Given the description of an element on the screen output the (x, y) to click on. 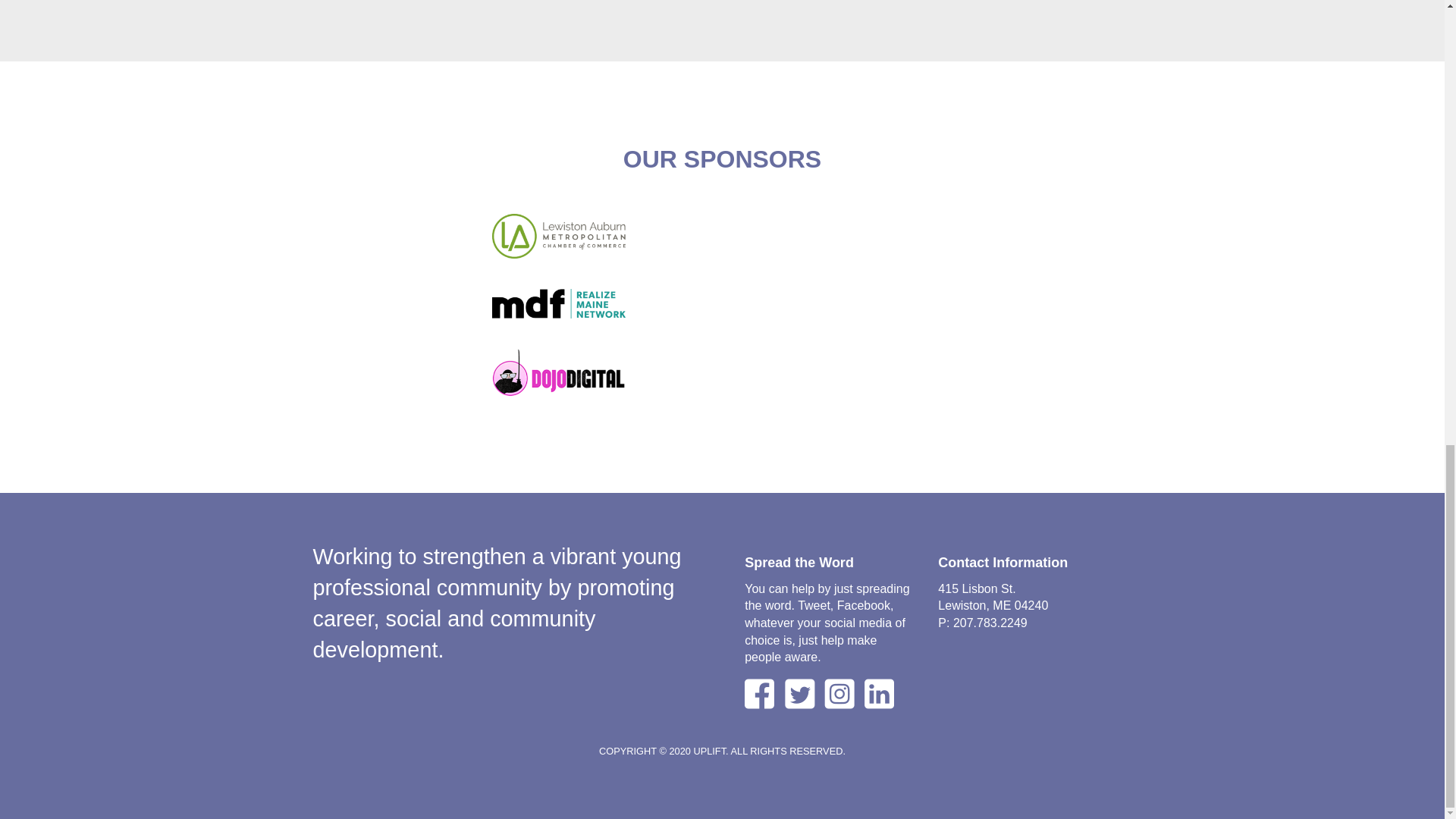
Dojo Digital (558, 372)
Facebook (759, 693)
Instagram (839, 693)
Twitter (802, 693)
Linked-In (882, 693)
LA Metro Chamber (558, 236)
Realize Maine Network (558, 303)
